Given the description of an element on the screen output the (x, y) to click on. 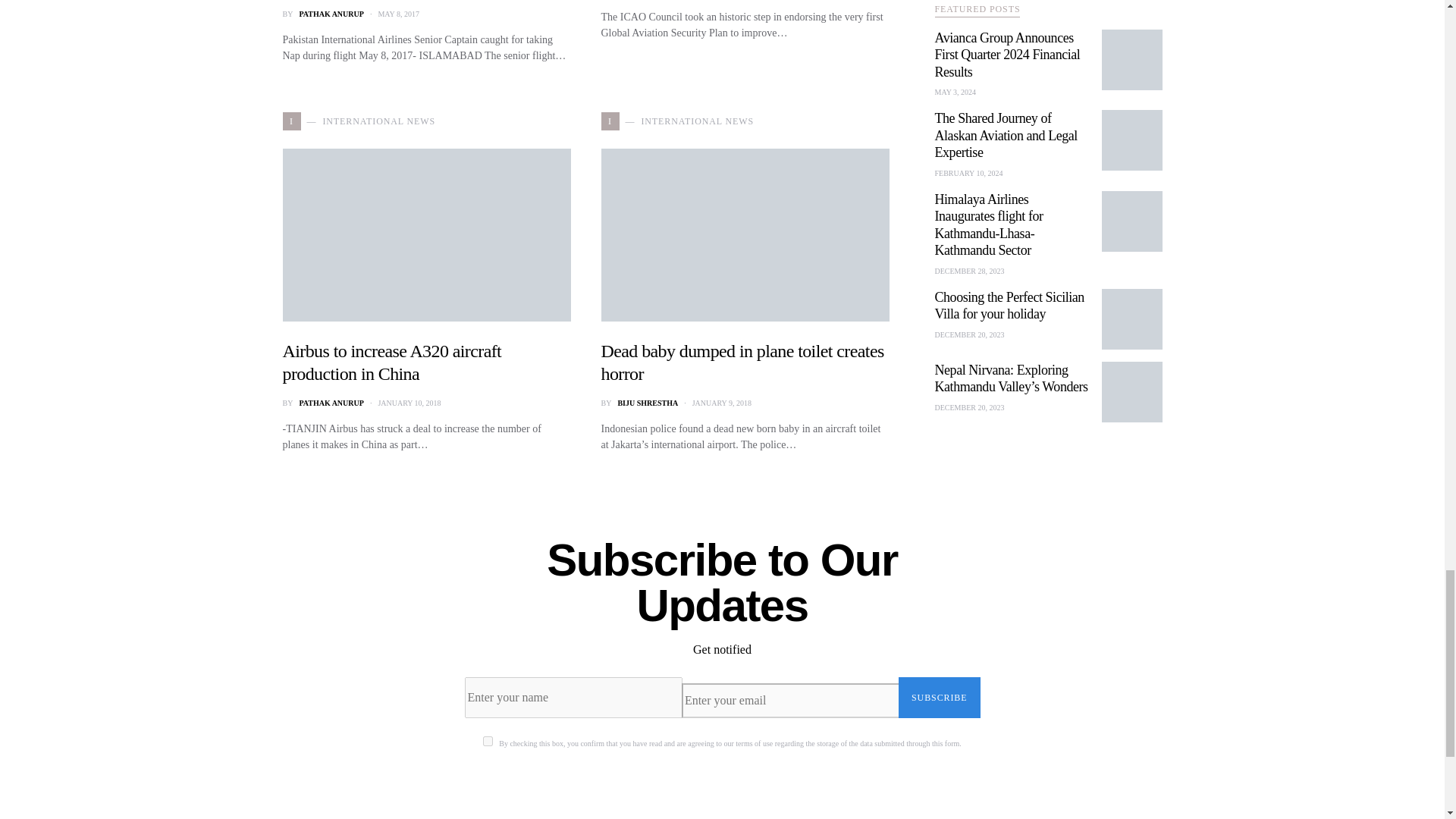
View all posts by Pathak Anurup (330, 13)
View all posts by Pathak Anurup (330, 402)
View all posts by Biju Shrestha (647, 402)
on (488, 741)
